Given the description of an element on the screen output the (x, y) to click on. 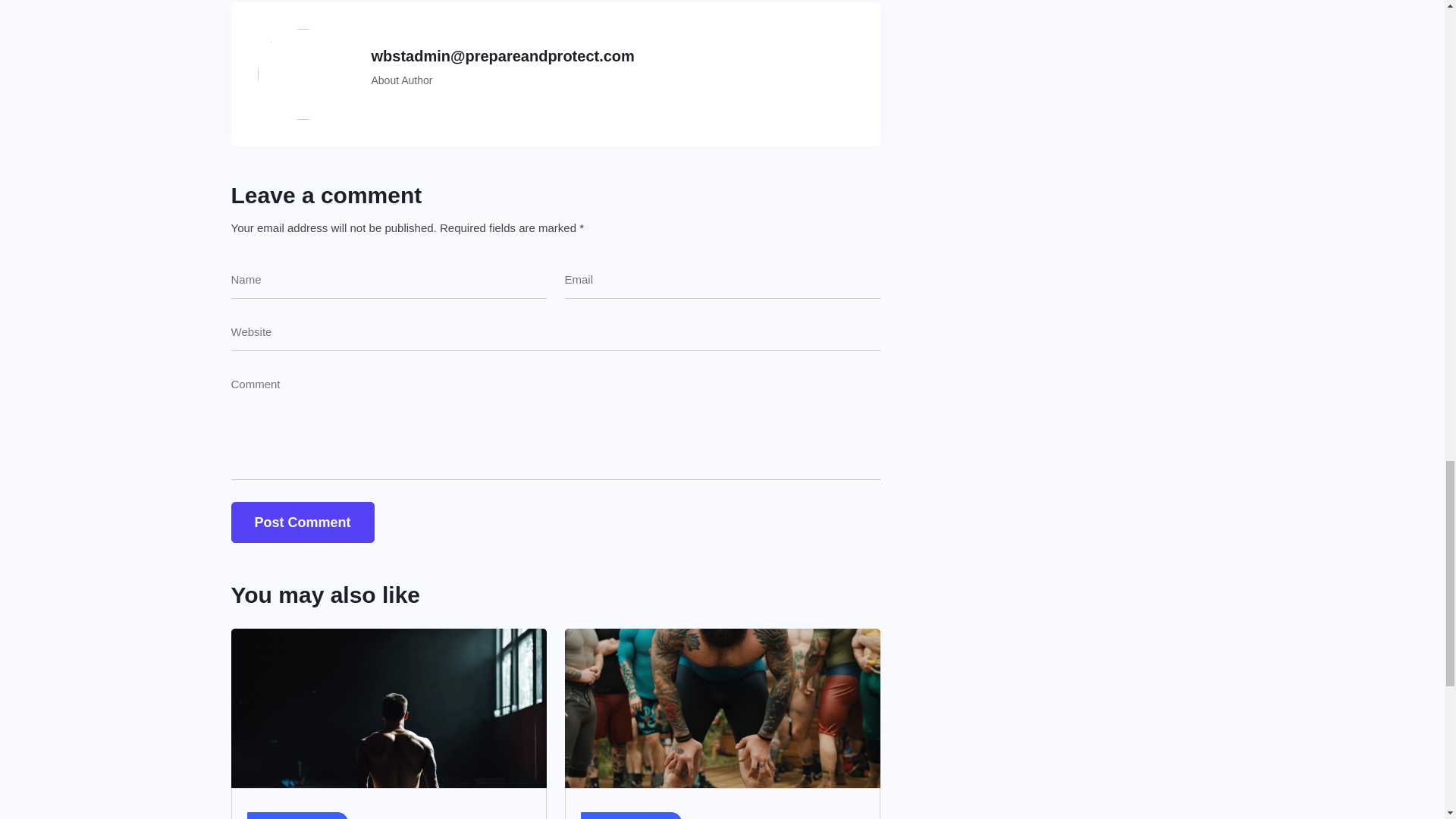
Post Comment (302, 522)
